Given the description of an element on the screen output the (x, y) to click on. 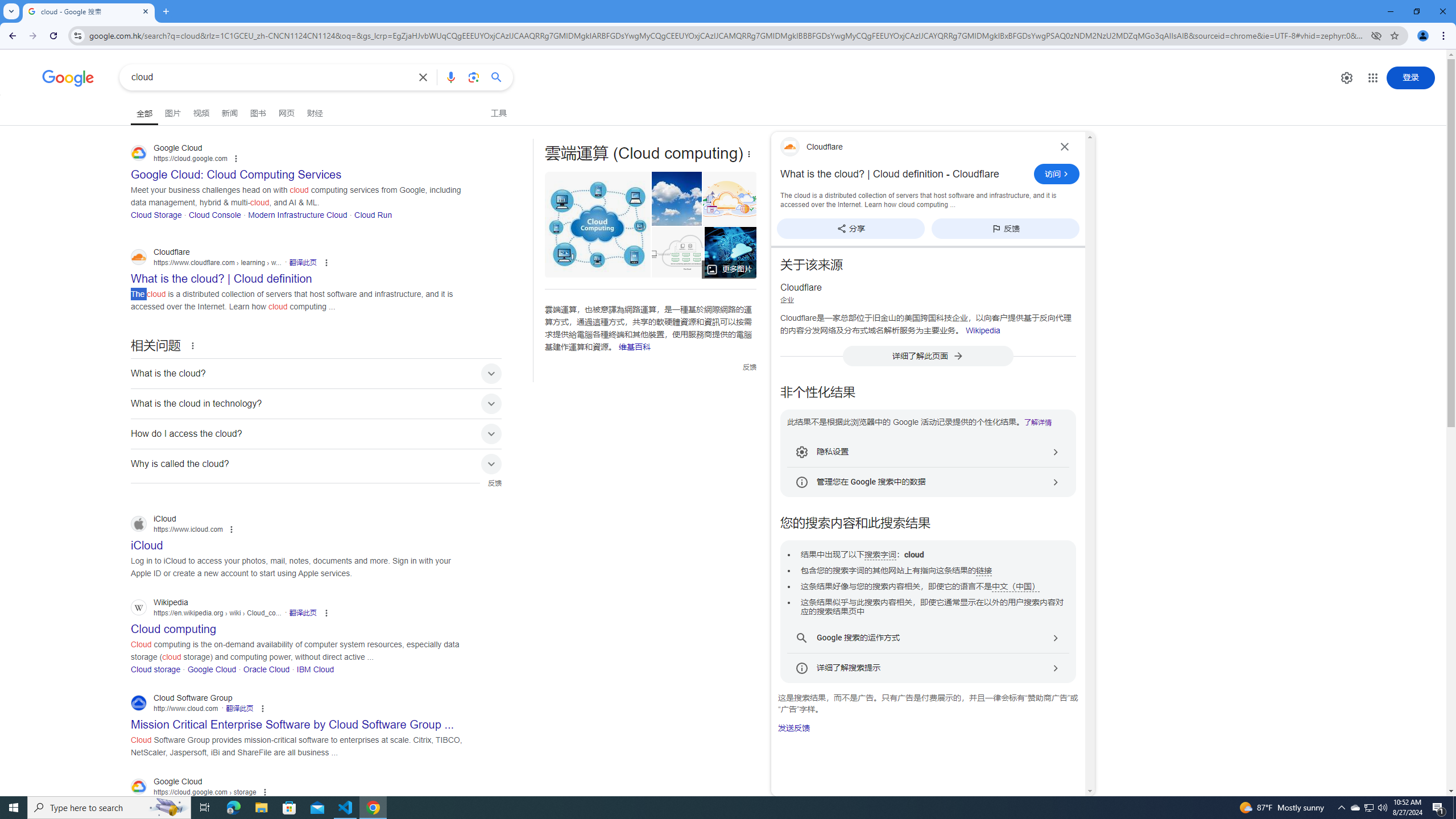
Google Cloud (211, 669)
Connectivity Cloud | Cloudflare (726, 198)
Modern Infrastructure Cloud (297, 214)
What is the cloud? | Cloud definition | Cloudflare (677, 251)
What is cloud computing? Everything you need to know now ... (742, 251)
What is cloud computing? Everything you need to know now ... (730, 251)
